Given the description of an element on the screen output the (x, y) to click on. 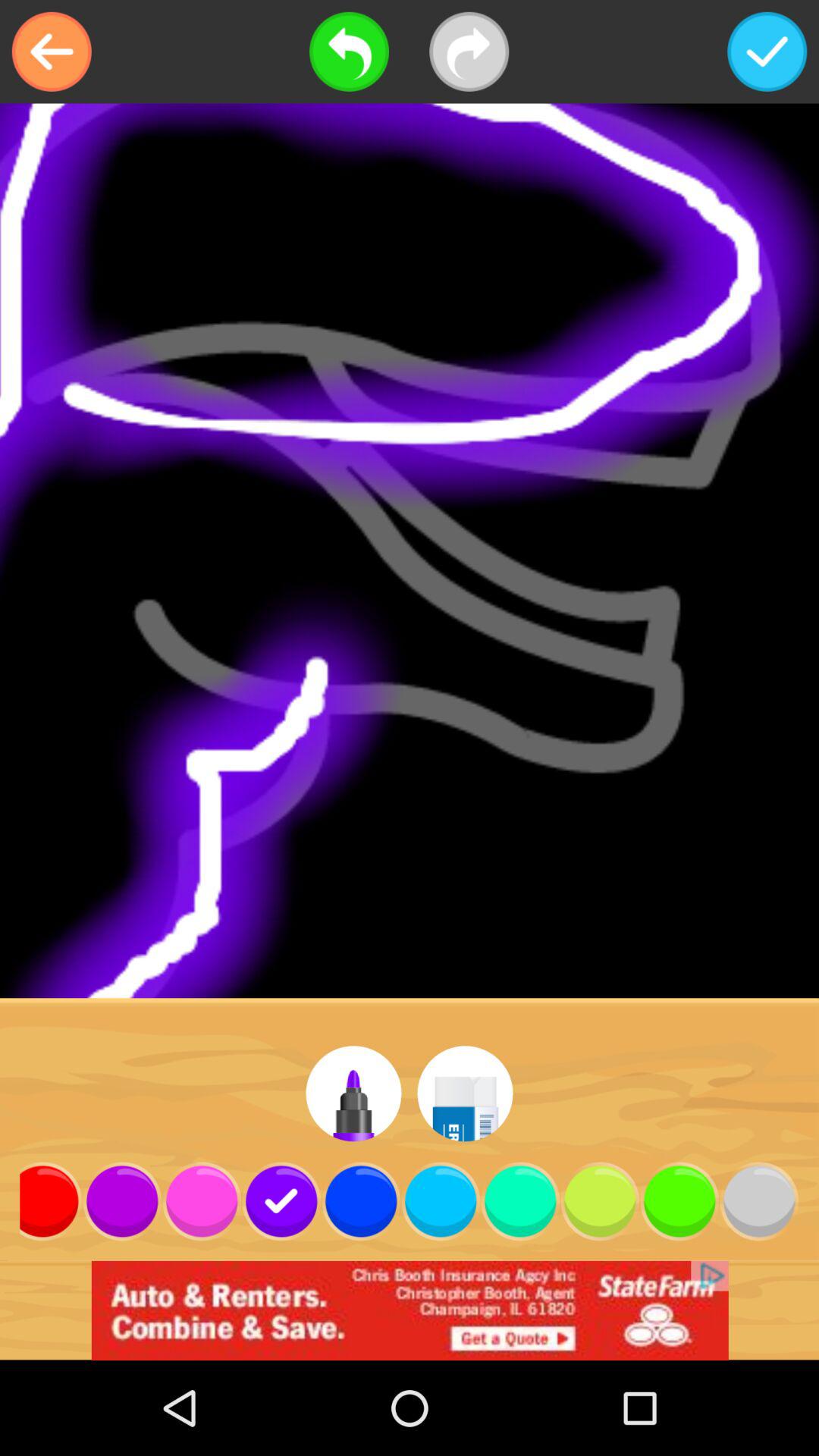
next (469, 51)
